Given the description of an element on the screen output the (x, y) to click on. 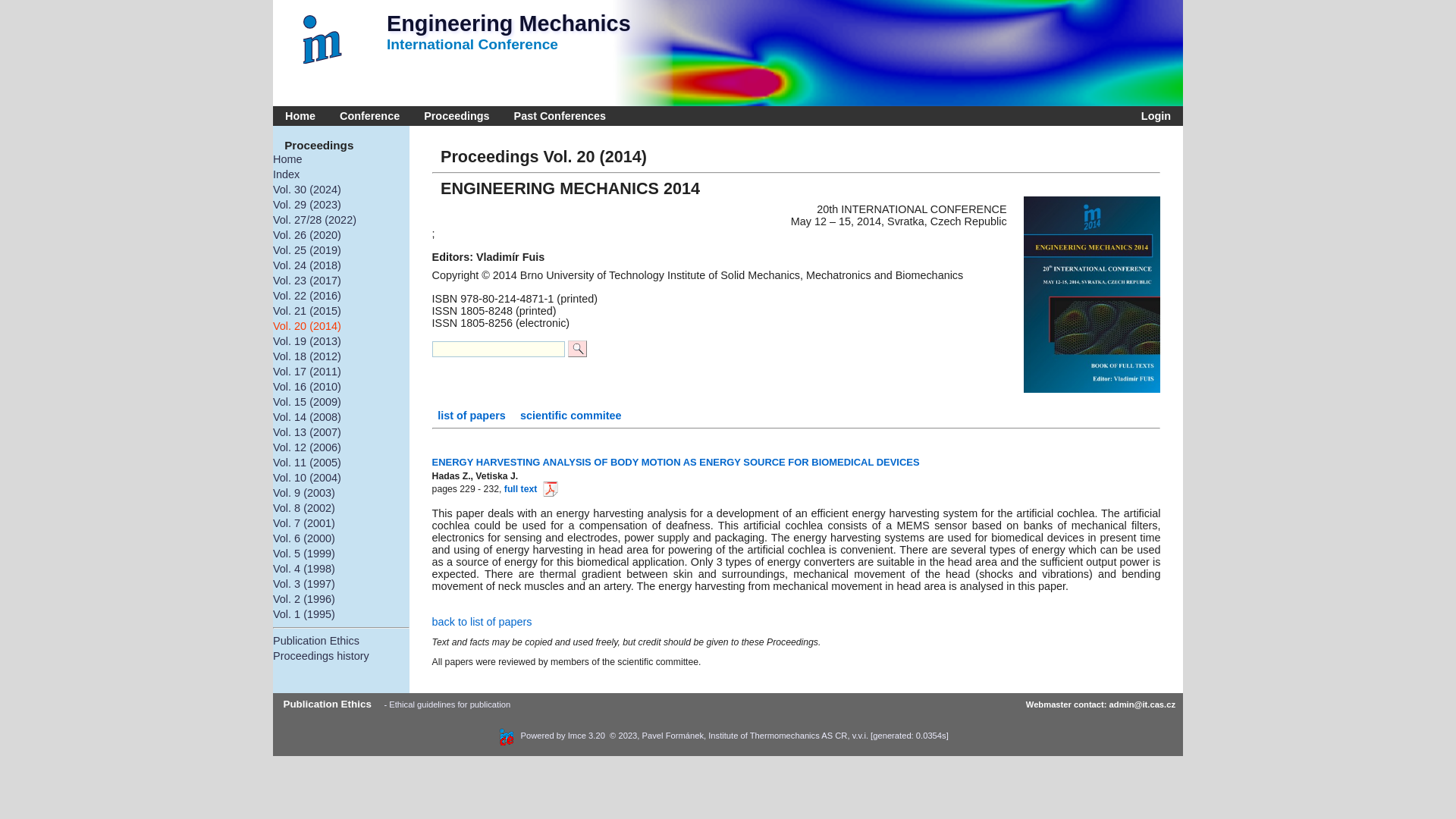
Home (300, 116)
IM (325, 39)
  Login (1152, 116)
Proceedings (456, 116)
Index (341, 174)
Home (341, 159)
